Given the description of an element on the screen output the (x, y) to click on. 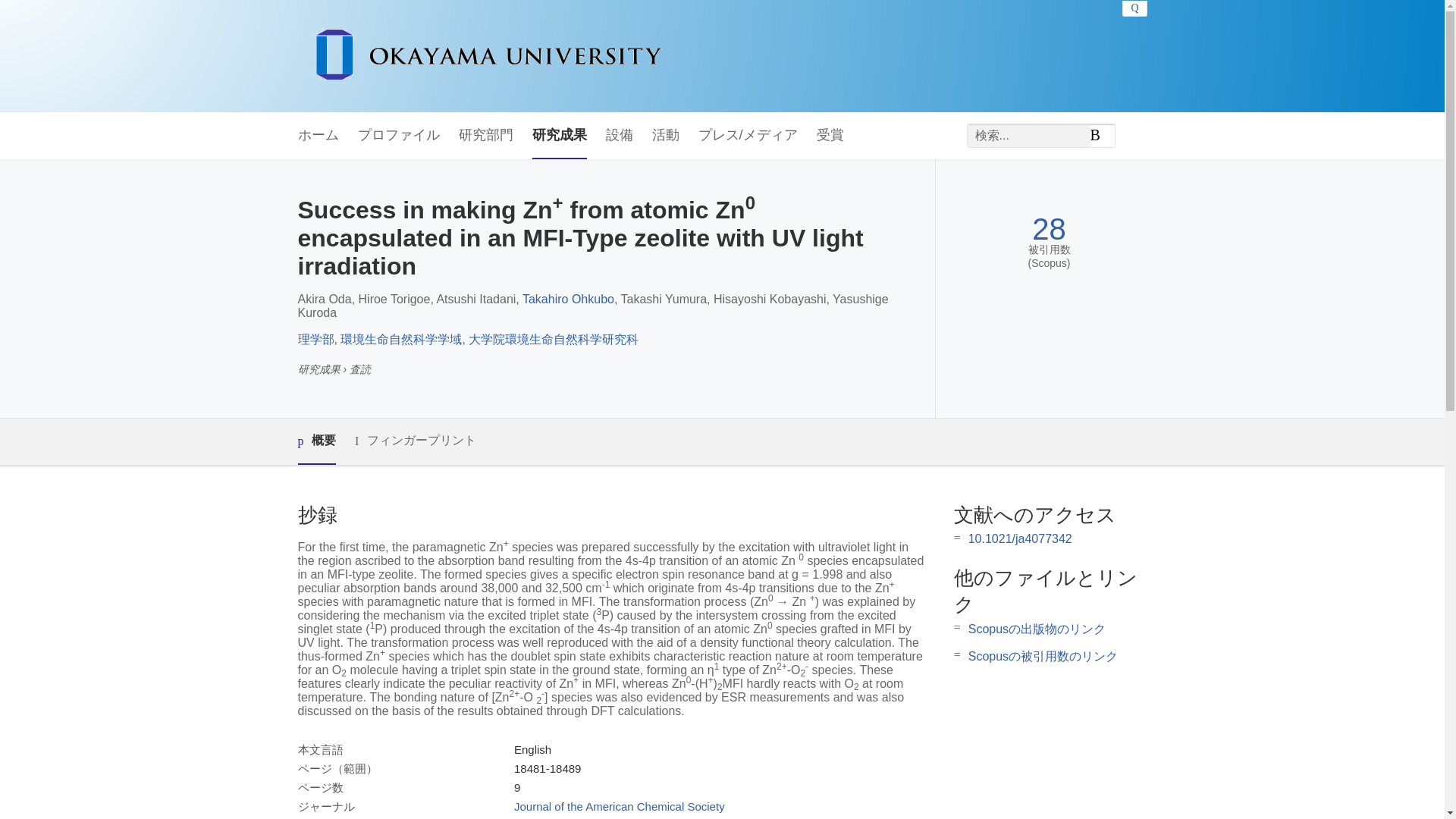
28 (1048, 229)
Journal of the American Chemical Society (619, 806)
Takahiro Ohkubo (568, 298)
